Given the description of an element on the screen output the (x, y) to click on. 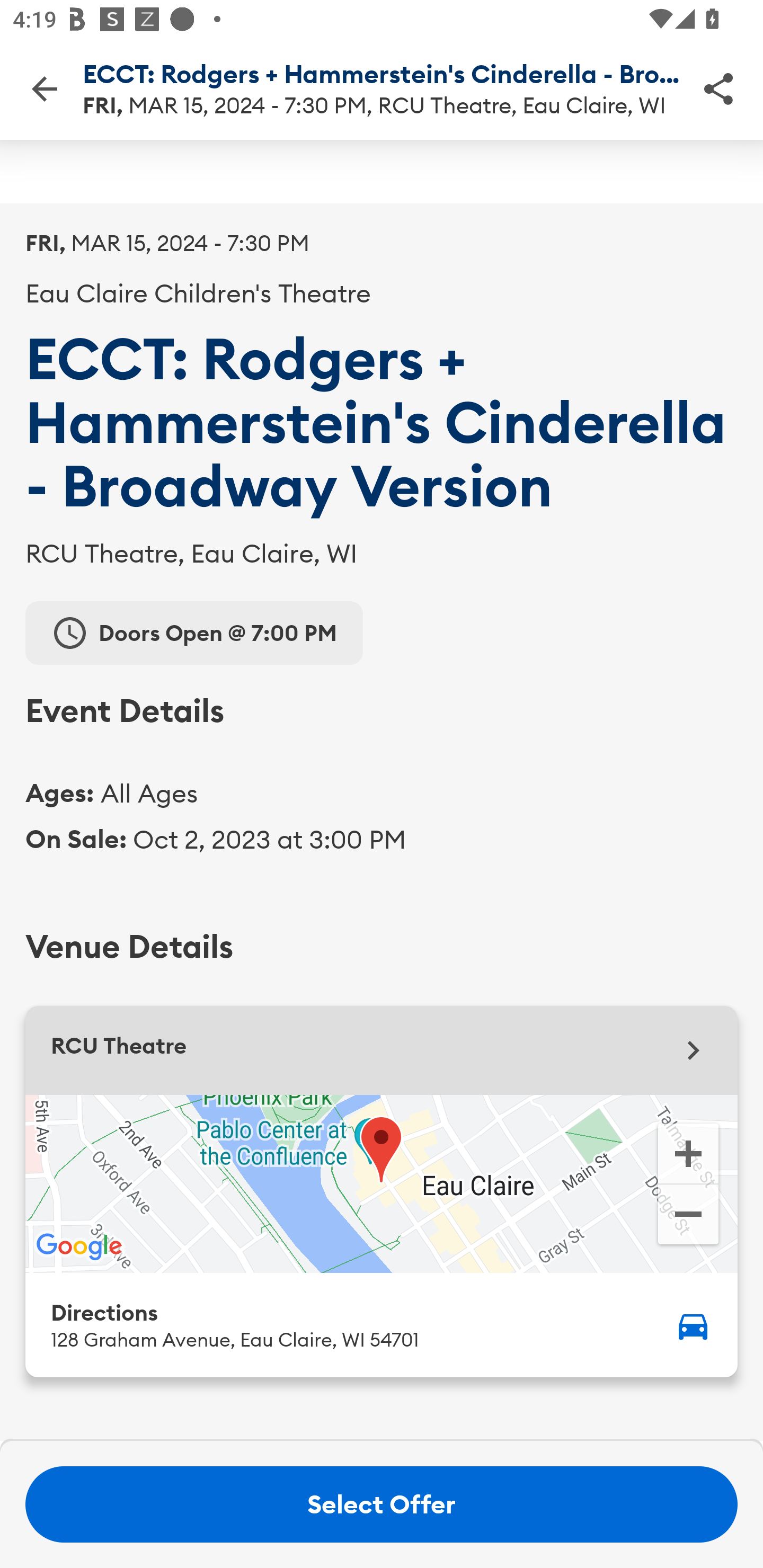
BackButton (44, 88)
Share (718, 88)
RCU Theatre (381, 1050)
Google Map RCU Theatre.  Zoom in Zoom out (381, 1183)
Zoom in (687, 1152)
Zoom out (687, 1216)
Directions 128 Graham Avenue, Eau Claire, WI 54701 (381, 1324)
Select Offer (381, 1504)
